Given the description of an element on the screen output the (x, y) to click on. 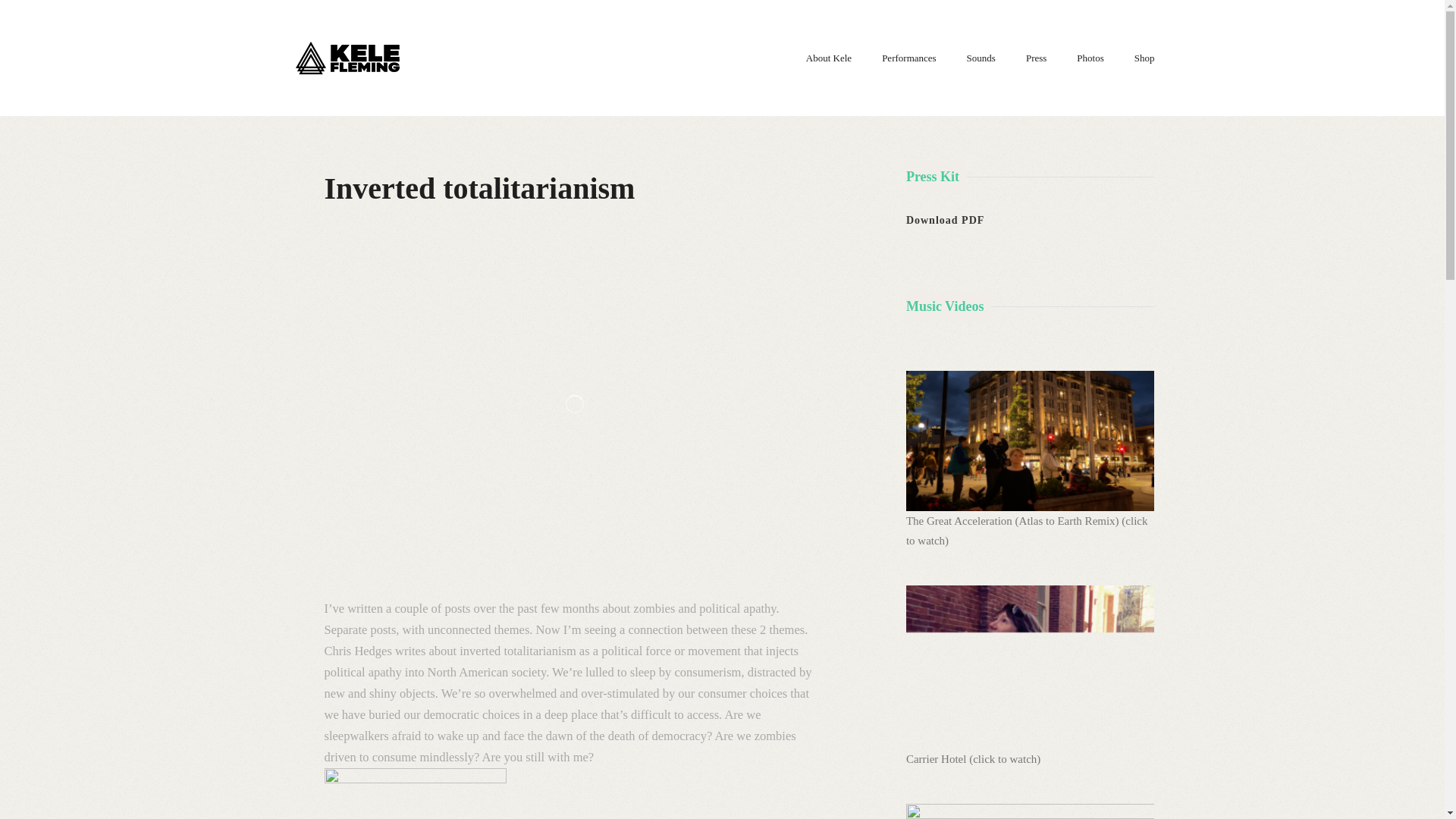
Download PDF (944, 220)
Photos (1090, 57)
Press (1036, 57)
Sounds (980, 57)
About Kele (828, 57)
Performances (909, 57)
Shop (1144, 57)
